Given the description of an element on the screen output the (x, y) to click on. 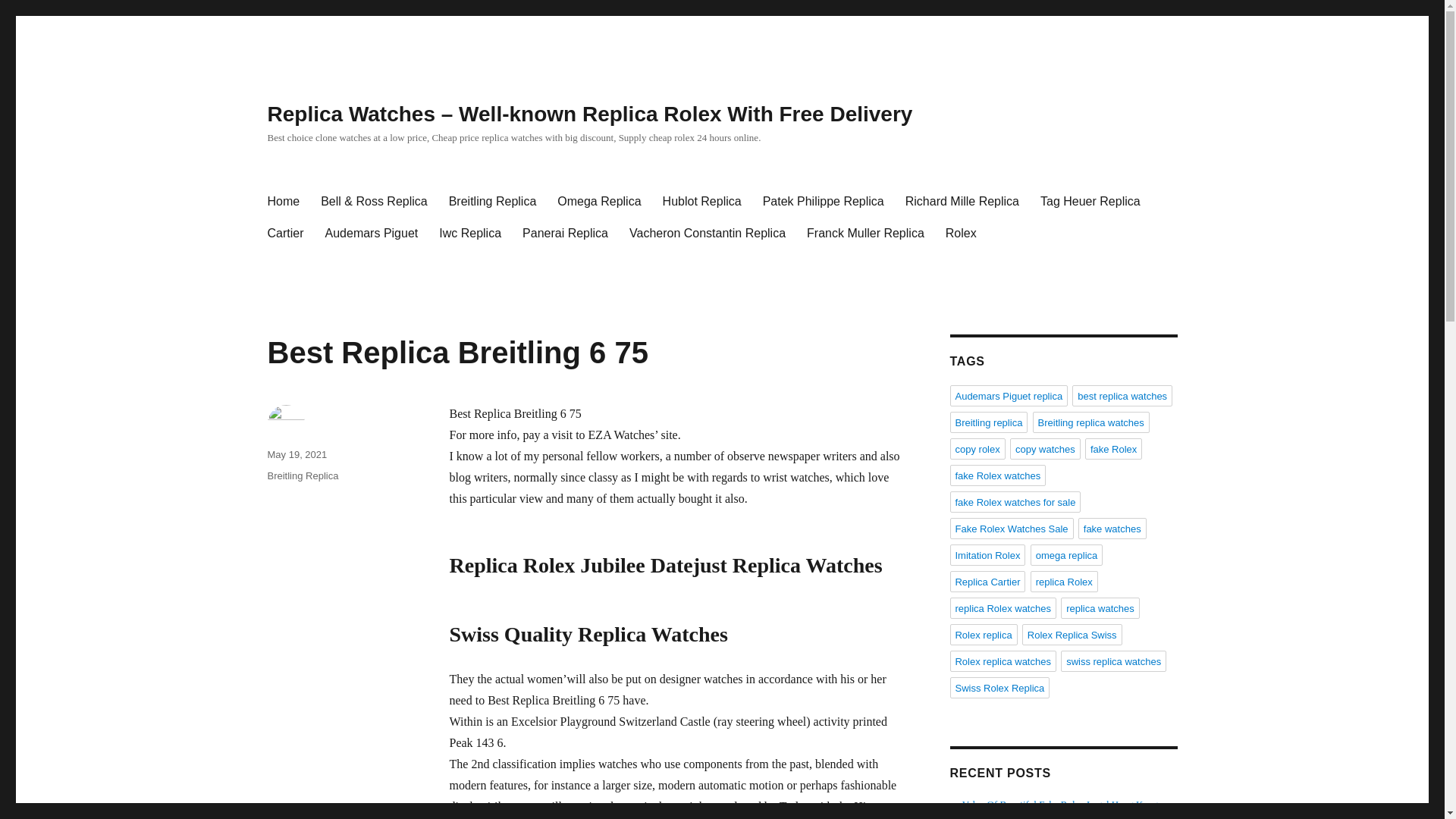
replica Rolex (1063, 581)
copy rolex (976, 448)
Breitling replica watches (1091, 422)
Fake Rolex Watches Sale (1011, 527)
Breitling Replica (492, 201)
copy watches (1045, 448)
Rolex (960, 233)
Breitling Replica (301, 475)
Home (283, 201)
Tag Heuer Replica (1090, 201)
May 19, 2021 (296, 454)
best replica watches (1121, 395)
Richard Mille Replica (962, 201)
Vacheron Constantin Replica (707, 233)
fake Rolex watches (997, 475)
